Given the description of an element on the screen output the (x, y) to click on. 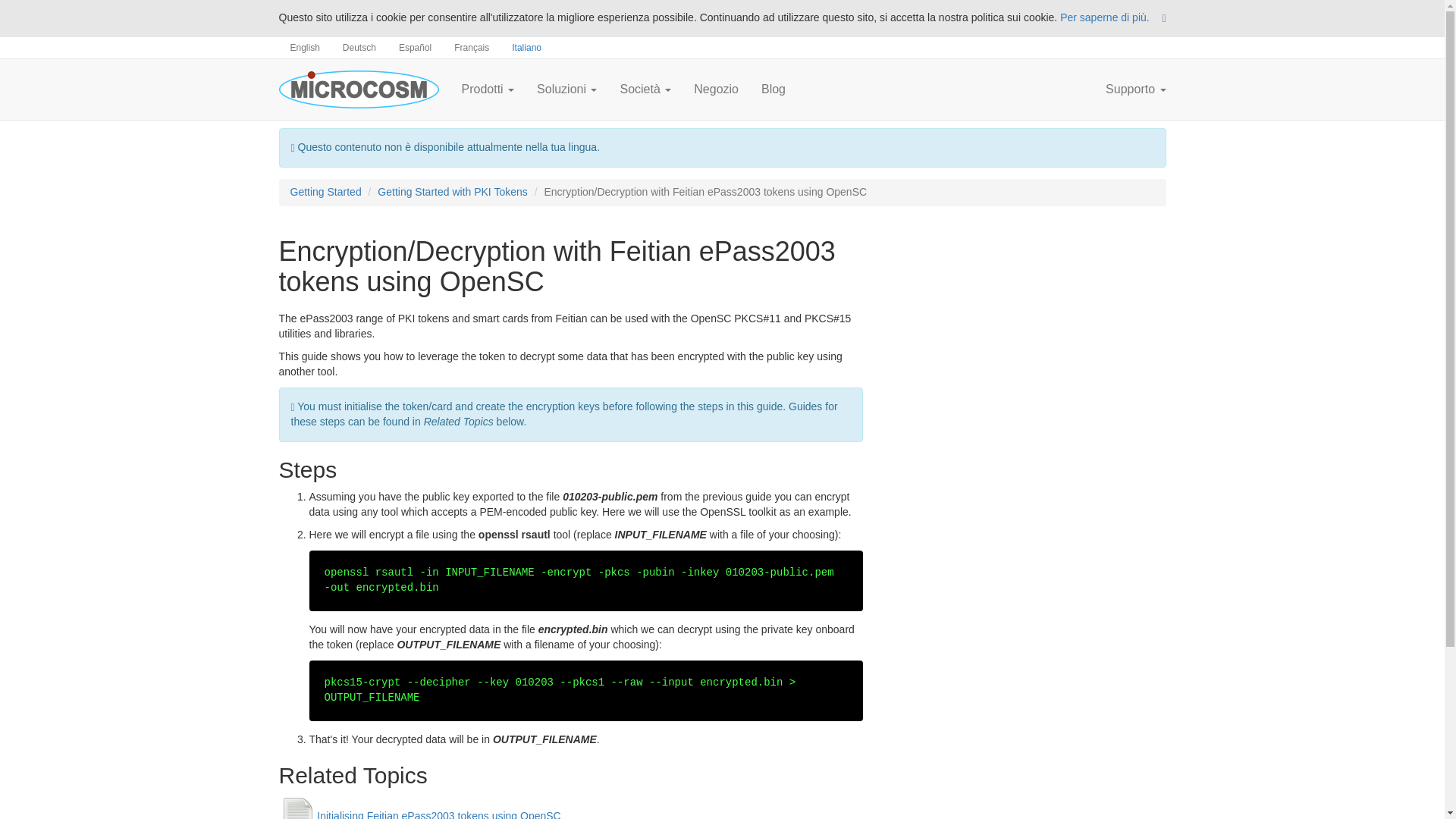
Deutsch (359, 47)
English (305, 47)
Italiano (526, 47)
Prodotti (487, 88)
Soluzioni (566, 88)
